Given the description of an element on the screen output the (x, y) to click on. 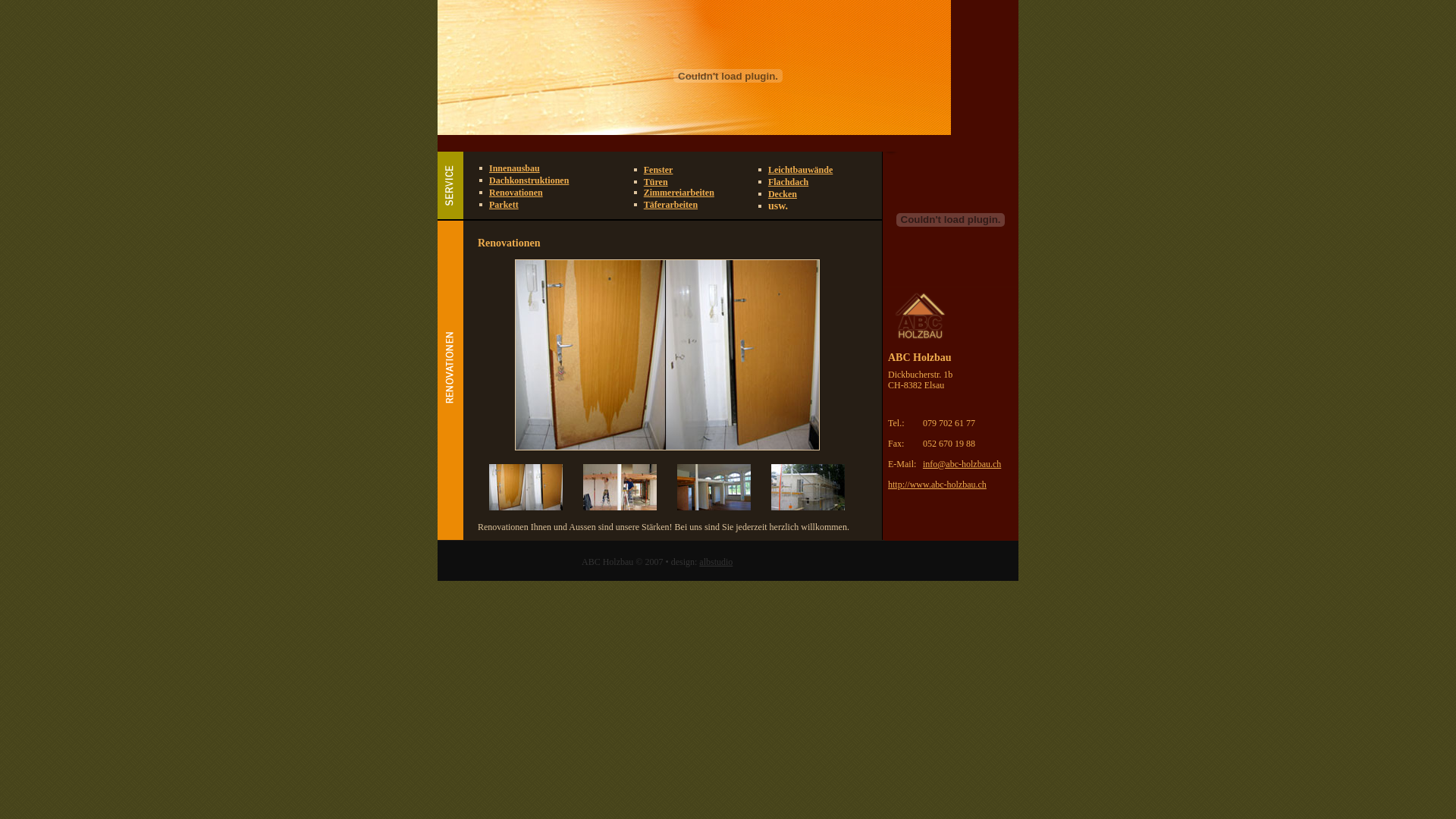
Renovationen Element type: text (515, 192)
Parkett Element type: text (503, 204)
albstudio Element type: text (715, 561)
Flachdach Element type: text (788, 181)
Innenausbau Element type: text (514, 168)
http://www.abc-holzbau.ch Element type: text (937, 484)
Dachkonstruktionen Element type: text (528, 180)
Fenster Element type: text (658, 169)
Zimmereiarbeiten Element type: text (678, 192)
Decken Element type: text (782, 193)
info@abc-holzbau.ch Element type: text (961, 463)
